Given the description of an element on the screen output the (x, y) to click on. 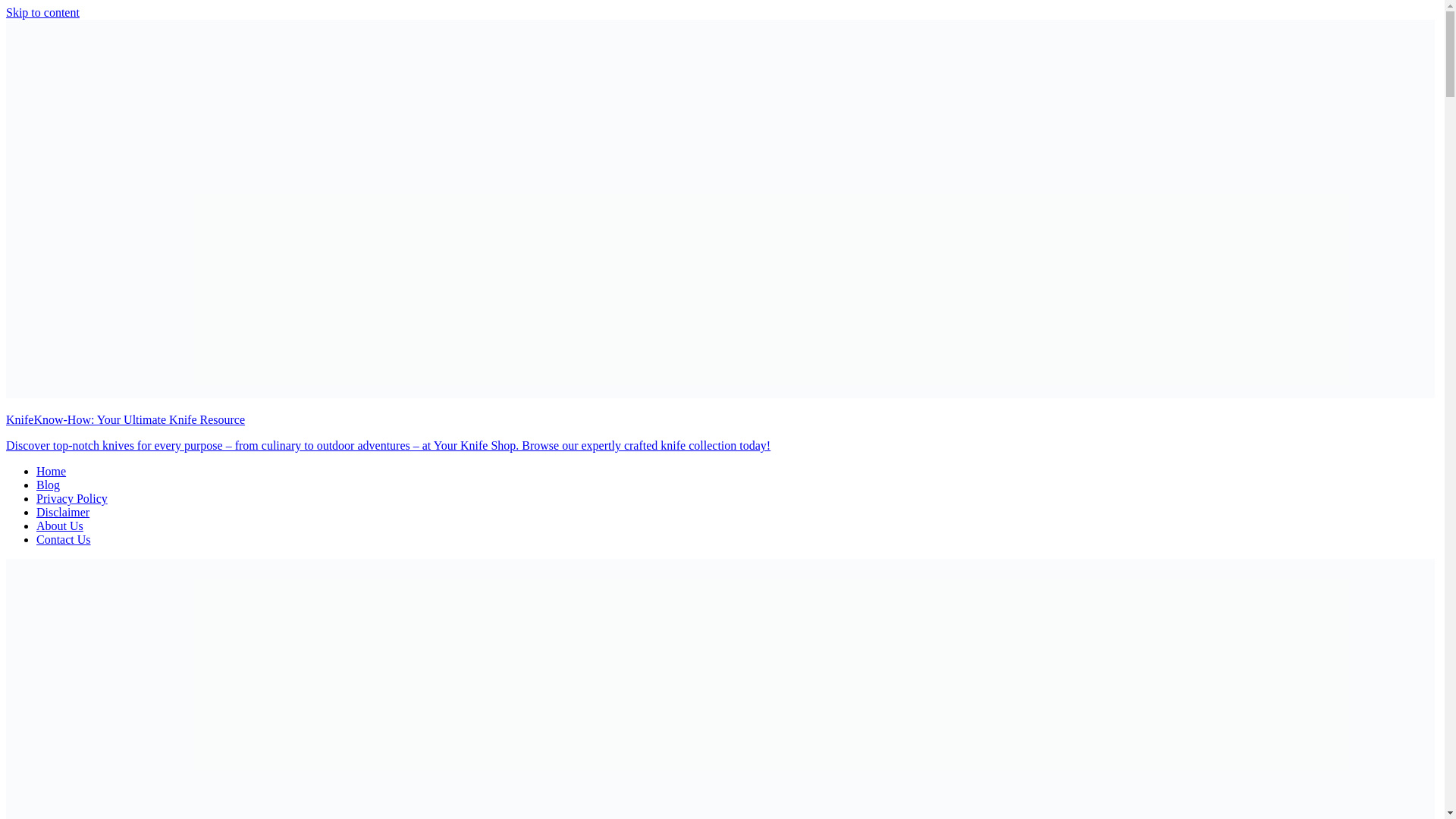
Privacy Policy (71, 498)
Home (50, 471)
Skip to content (42, 11)
Blog (47, 484)
Contact Us (63, 539)
Skip to content (42, 11)
About Us (59, 525)
Disclaimer (62, 512)
